Given the description of an element on the screen output the (x, y) to click on. 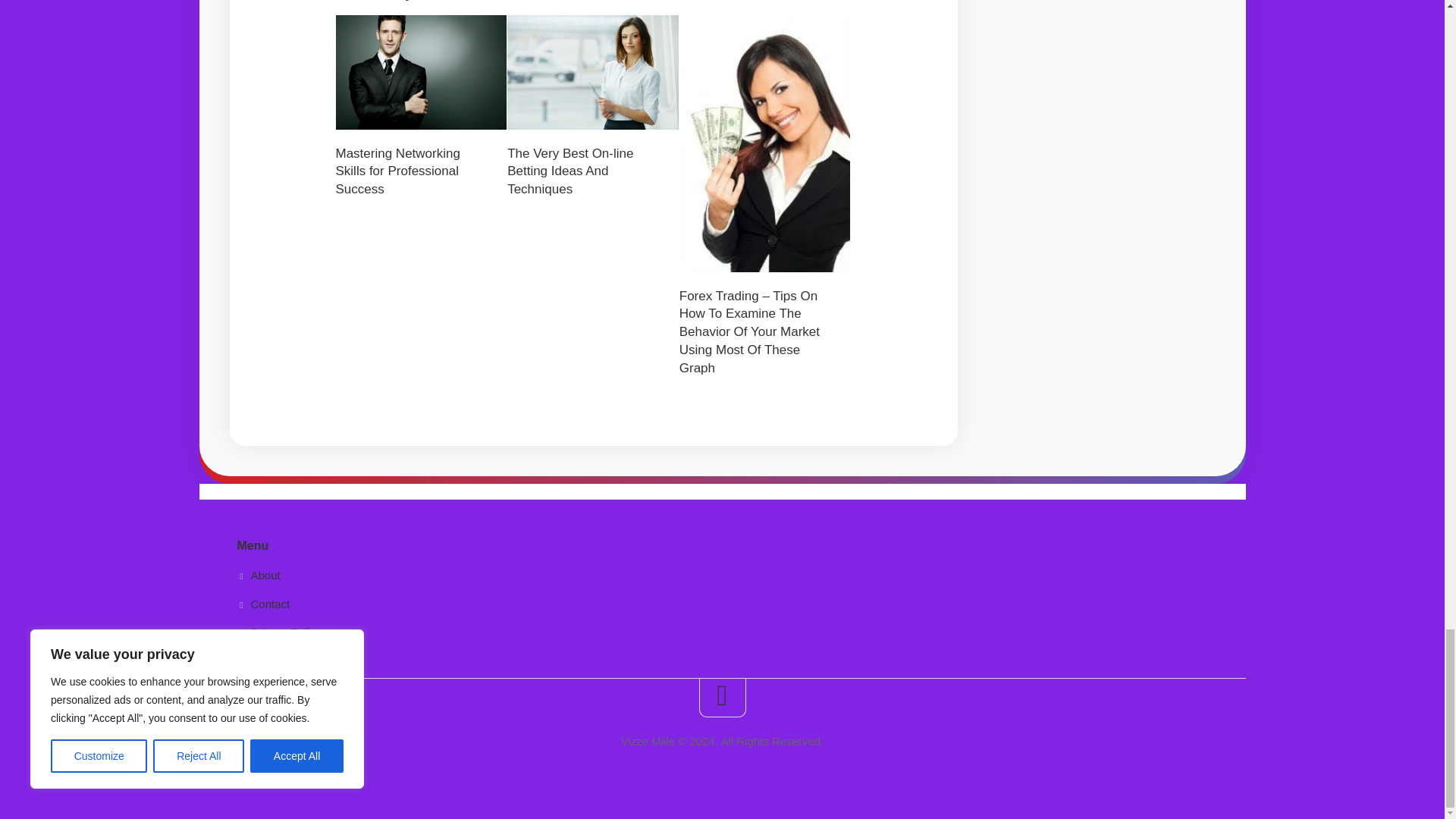
The Very Best On-line Betting Ideas And Techniques (569, 170)
Mastering Networking Skills for Professional Success (397, 170)
